Given the description of an element on the screen output the (x, y) to click on. 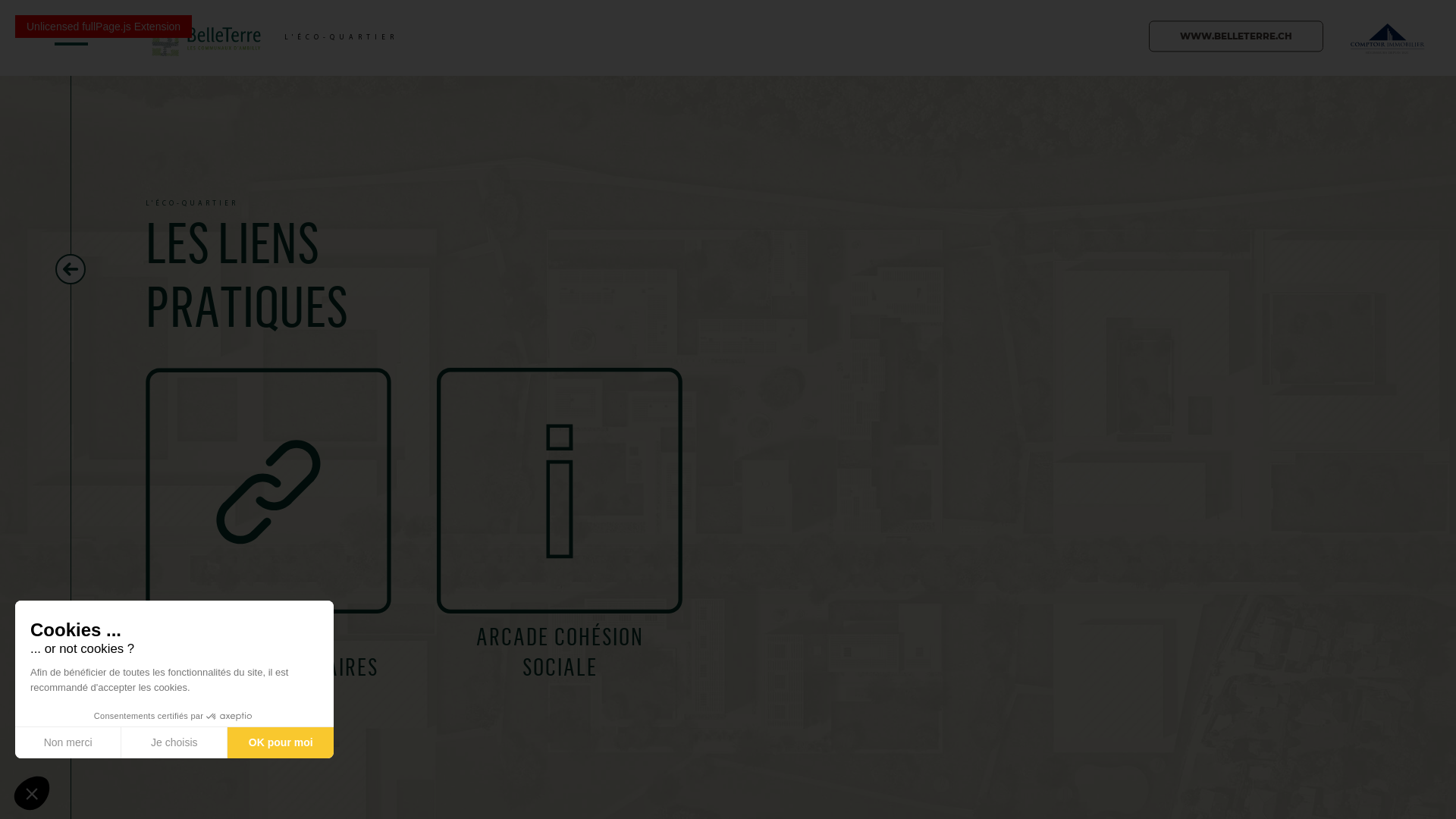
Accueil Belle Terre Appli Element type: hover (206, 36)
WWW.BELLETERRE.CH Element type: text (1235, 36)
Unlicensed fullPage.js Extension Element type: text (103, 26)
TPG-SIG-ETAT
COMMUNE-PARTENAIRES Element type: text (290, 528)
Non merci Element type: text (68, 742)
Je choisis Element type: text (174, 742)
Fermer le widget sans consentement Element type: hover (31, 793)
OK pour moi Element type: text (280, 742)
